Given the description of an element on the screen output the (x, y) to click on. 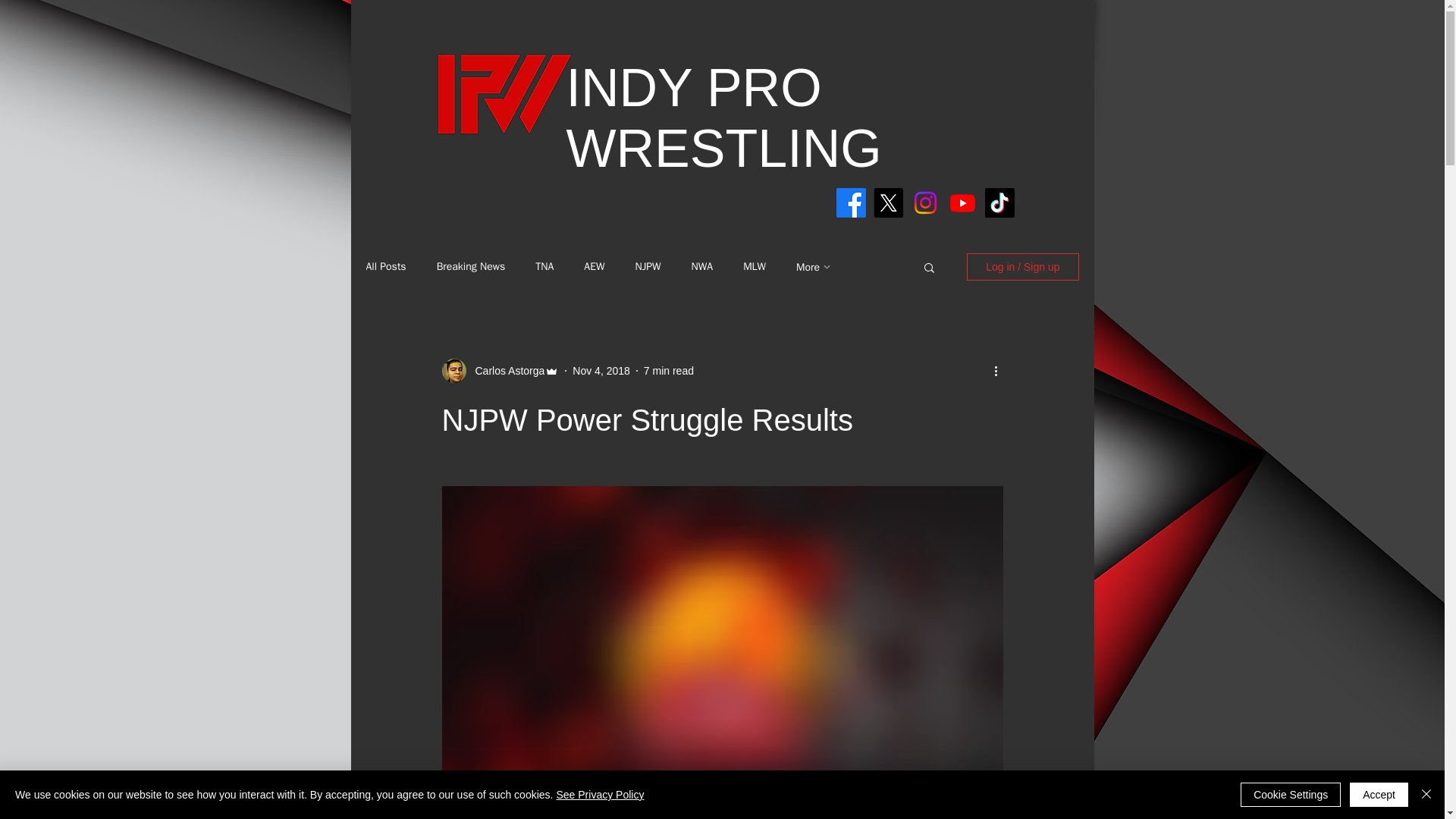
All Posts (385, 266)
NJPW (647, 266)
AEW (593, 266)
INDY PRO WRESTLING (723, 118)
7 min read (668, 369)
Accept (1378, 794)
Carlos Astorga (504, 370)
Nov 4, 2018 (601, 369)
MLW (753, 266)
Breaking News (470, 266)
TNA (544, 266)
See Privacy Policy (599, 794)
NWA (702, 266)
